Given the description of an element on the screen output the (x, y) to click on. 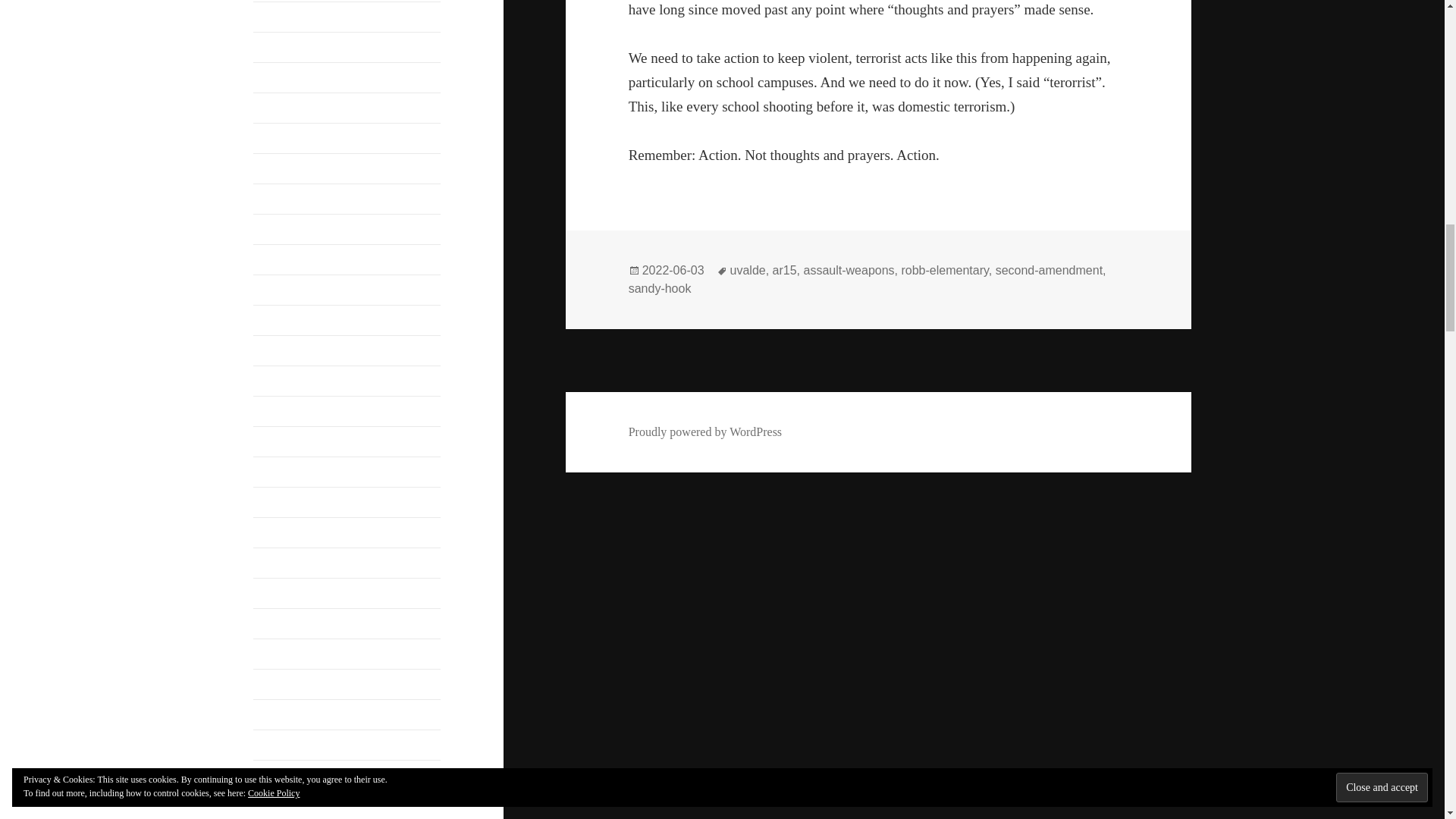
July 2021 (277, 47)
August 2021 (284, 16)
June 2021 (277, 77)
January 2021 (285, 168)
December 2020 (291, 198)
May 2021 (277, 107)
February 2021 (288, 137)
